Given the description of an element on the screen output the (x, y) to click on. 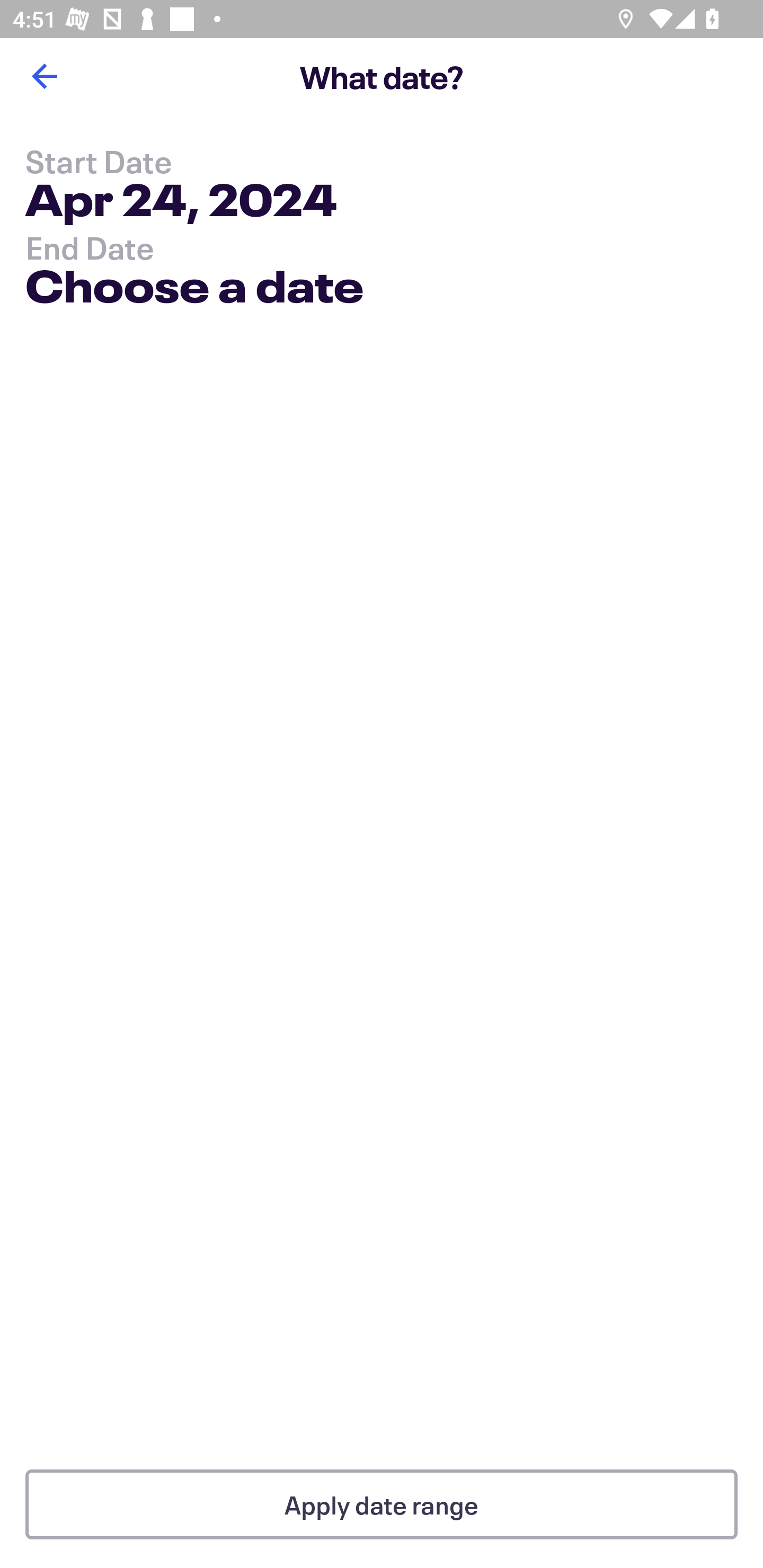
Back button (44, 75)
Apr 24, 2024 (181, 203)
Choose a date (194, 289)
Apply date range (381, 1504)
